Given the description of an element on the screen output the (x, y) to click on. 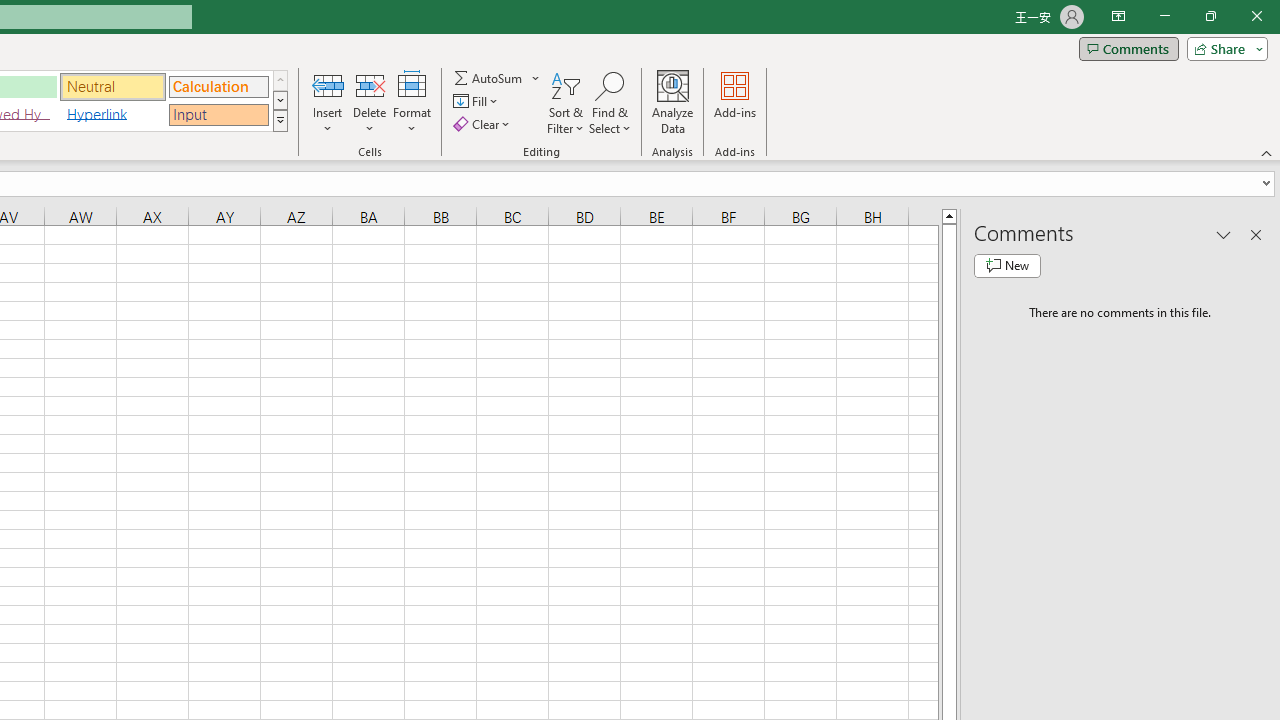
AutoSum (497, 78)
Row Down (280, 100)
Clear (483, 124)
Fill (477, 101)
Input (218, 114)
Find & Select (610, 102)
Neutral (113, 86)
Cell Styles (280, 120)
